Given the description of an element on the screen output the (x, y) to click on. 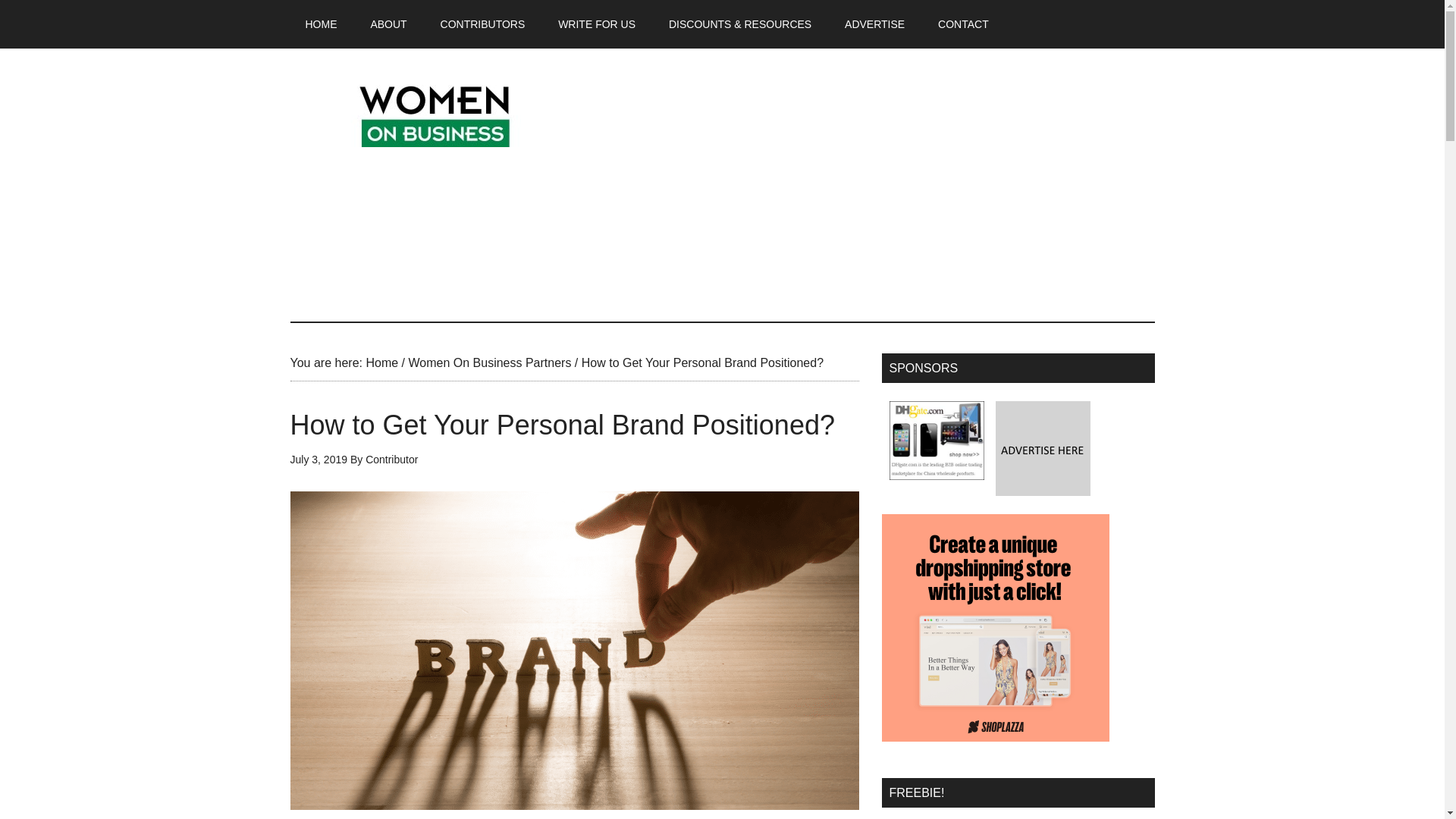
DHgate - Do business with China wholesalers online (936, 440)
CONTRIBUTORS (482, 24)
WRITE FOR US (596, 24)
CONTACT (963, 24)
Women on Business (433, 112)
Home (381, 362)
Advertisement (878, 184)
ABOUT (388, 24)
Women On Business Partners (488, 362)
HOME (320, 24)
Contributor (391, 459)
ADVERTISE (874, 24)
